Given the description of an element on the screen output the (x, y) to click on. 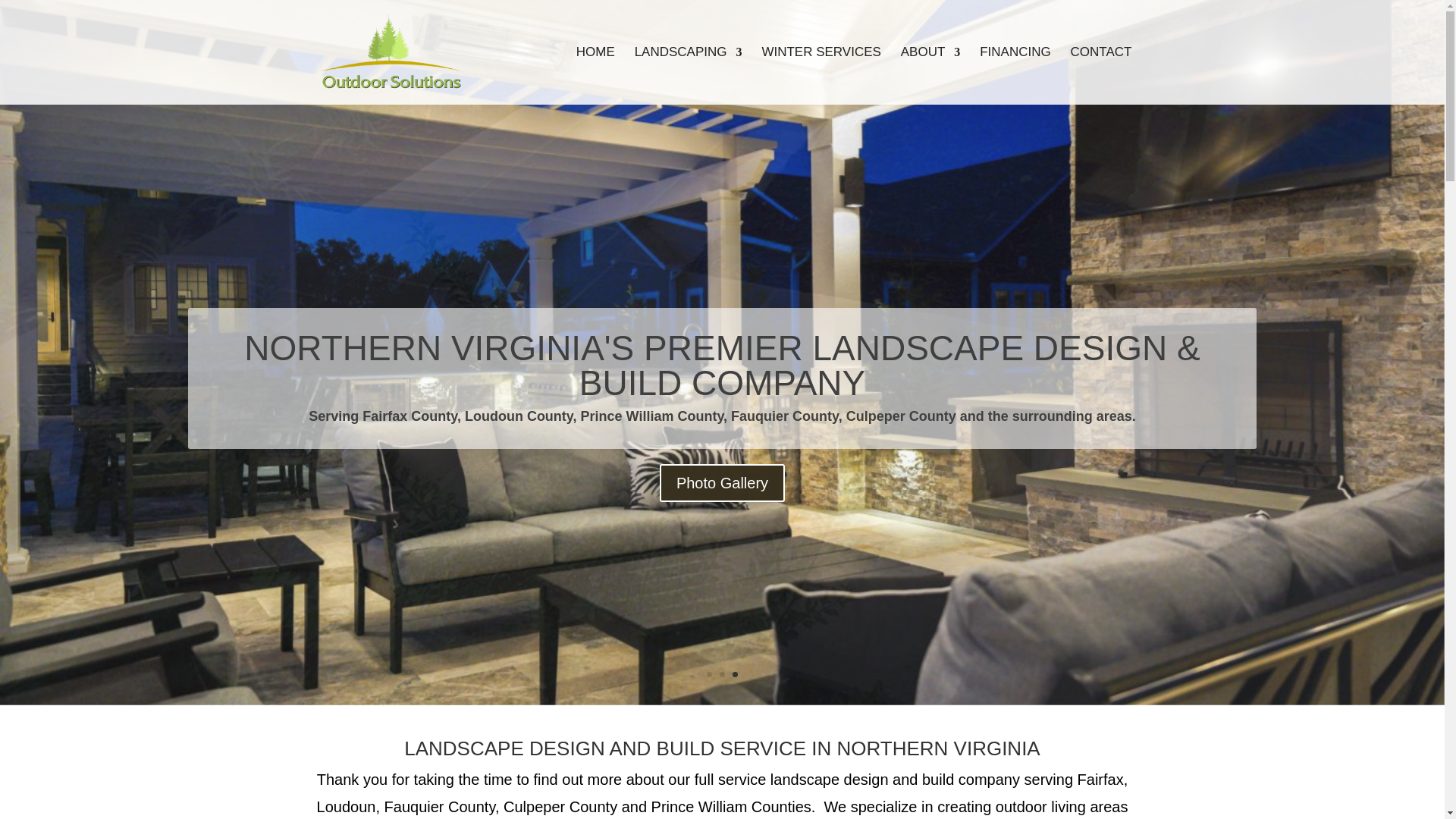
Photo Gallery (721, 483)
CONTACT (1101, 75)
LANDSCAPING (688, 75)
1 (708, 674)
FINANCING (1015, 75)
Photo Gallery (721, 496)
3 (735, 674)
2 (722, 674)
WINTER SERVICES (820, 75)
ABOUT (930, 75)
